Given the description of an element on the screen output the (x, y) to click on. 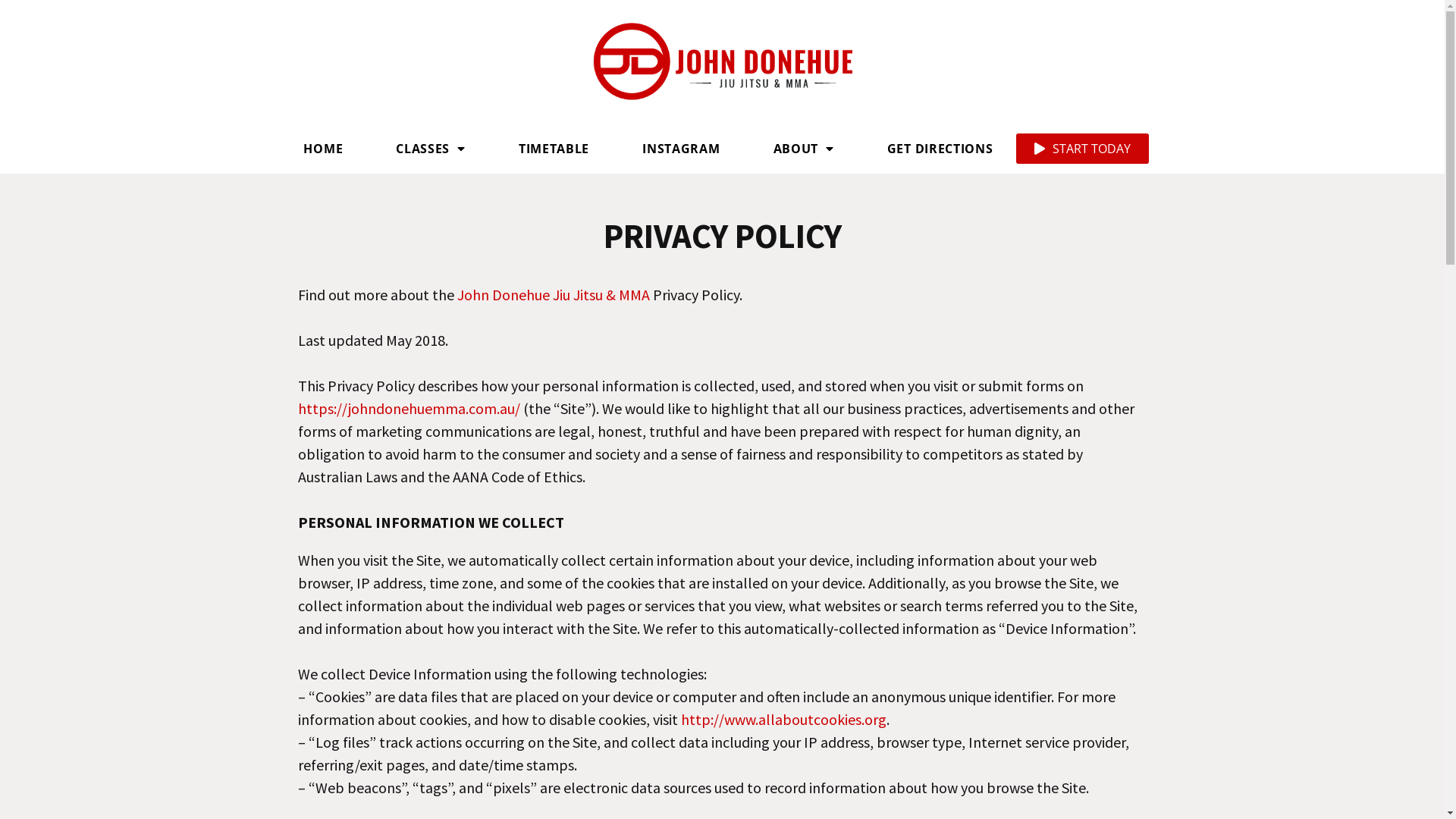
TIMETABLE Element type: text (553, 148)
HOME Element type: text (322, 148)
John Donehue Jiu Jitsu & MMA Element type: text (552, 294)
START TODAY Element type: text (1082, 148)
https://johndonehuemma.com.au/ Element type: text (408, 407)
ABOUT Element type: text (803, 148)
GET DIRECTIONS Element type: text (940, 148)
CLASSES Element type: text (430, 148)
INSTAGRAM Element type: text (680, 148)
http://www.allaboutcookies.org Element type: text (783, 718)
